Given the description of an element on the screen output the (x, y) to click on. 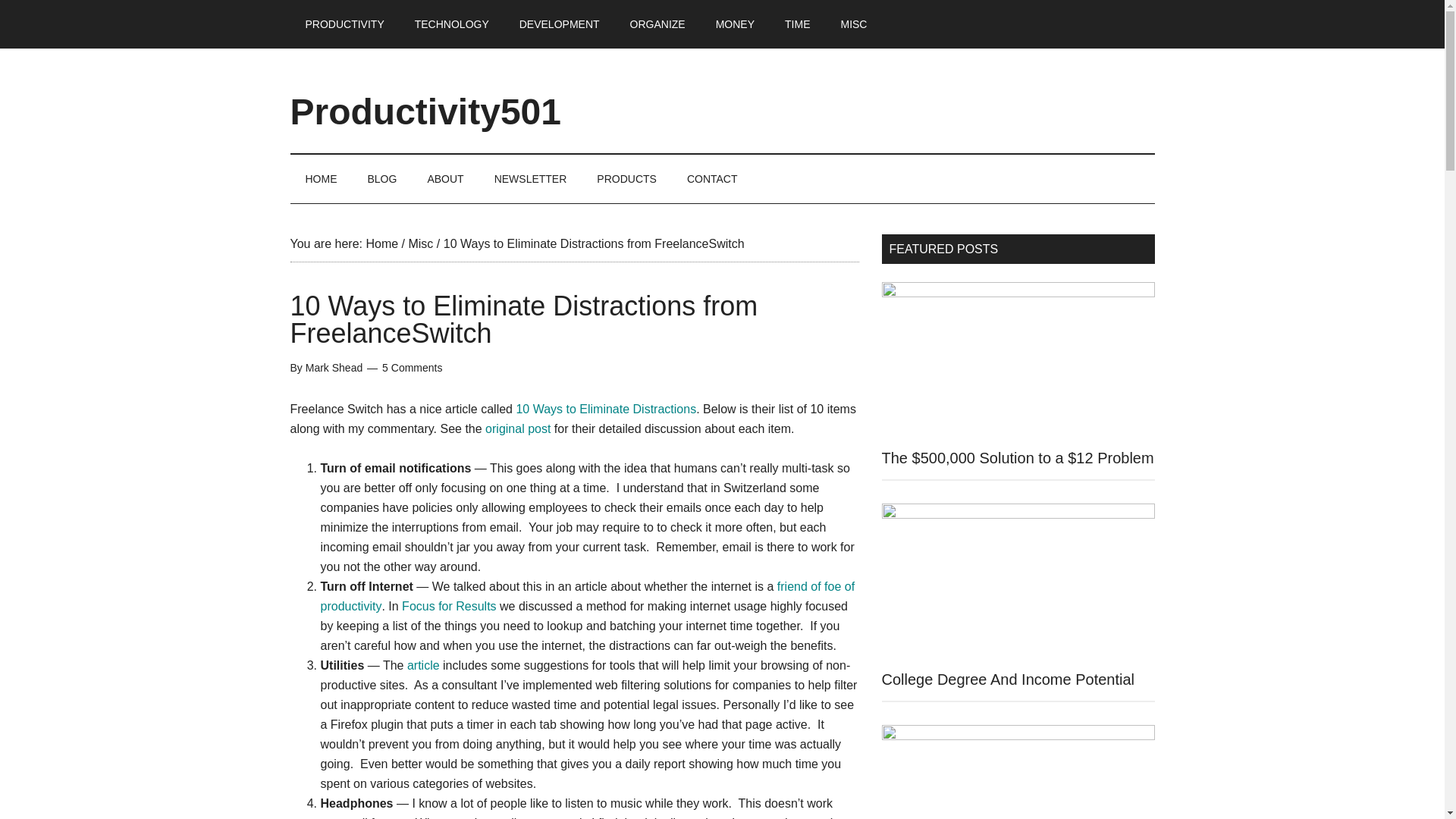
friend of foe of productivity (587, 595)
ABOUT (445, 178)
NEWSLETTER (530, 178)
original post (517, 428)
HOME (320, 178)
TIME (797, 24)
Focus for Results (448, 605)
ORGANIZE (657, 24)
Misc (419, 243)
MISC (853, 24)
Home (381, 243)
BLOG (382, 178)
article (423, 665)
DEVELOPMENT (558, 24)
